Given the description of an element on the screen output the (x, y) to click on. 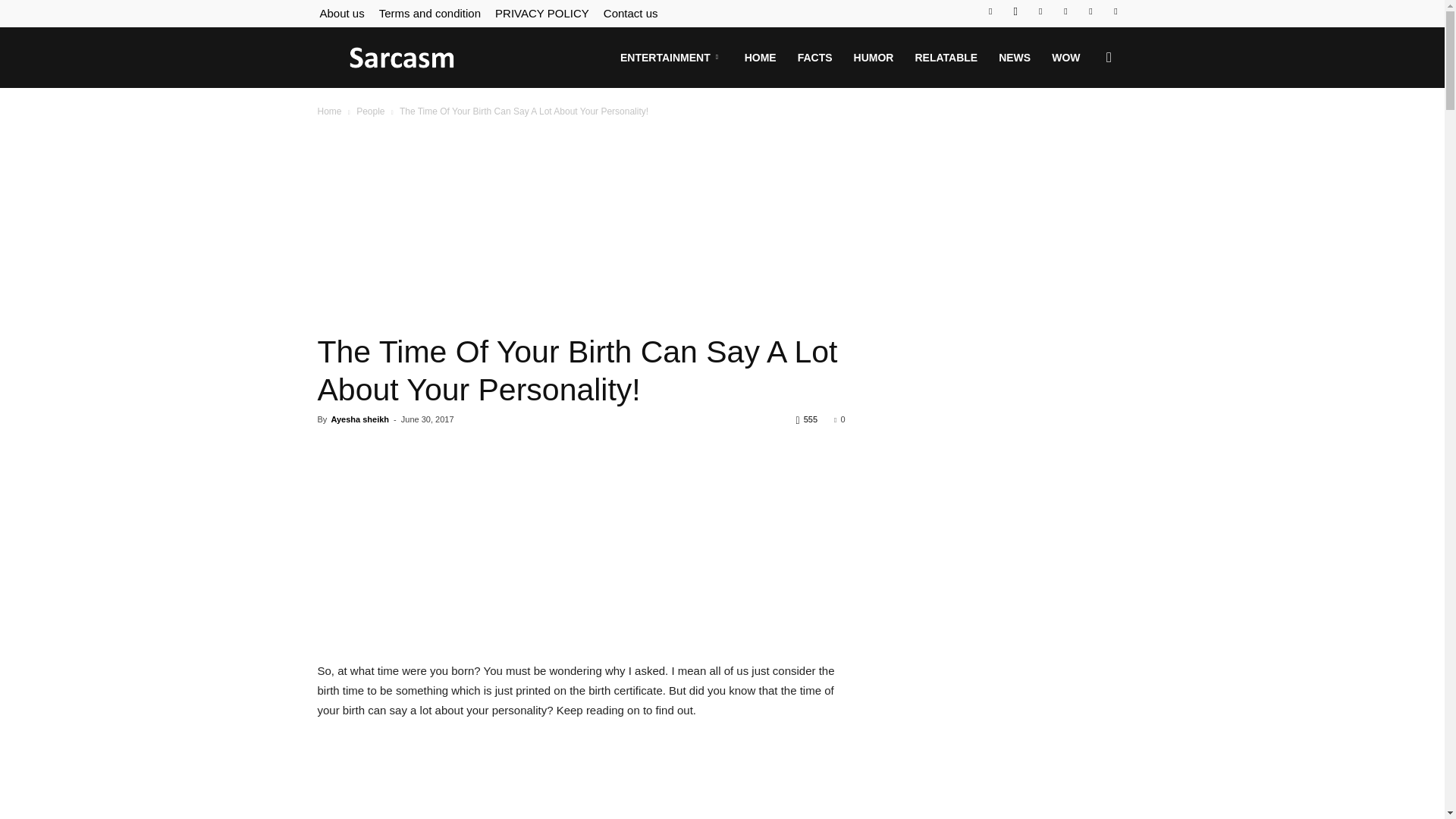
Sarcasm.co (401, 57)
Twitter (1040, 10)
Vimeo (1065, 10)
Search (1085, 129)
VKontakte (1090, 10)
ENTERTAINMENT (671, 57)
Contact us (631, 12)
Instagram (1015, 10)
PRIVACY POLICY (542, 12)
Terms and condition (429, 12)
